Given the description of an element on the screen output the (x, y) to click on. 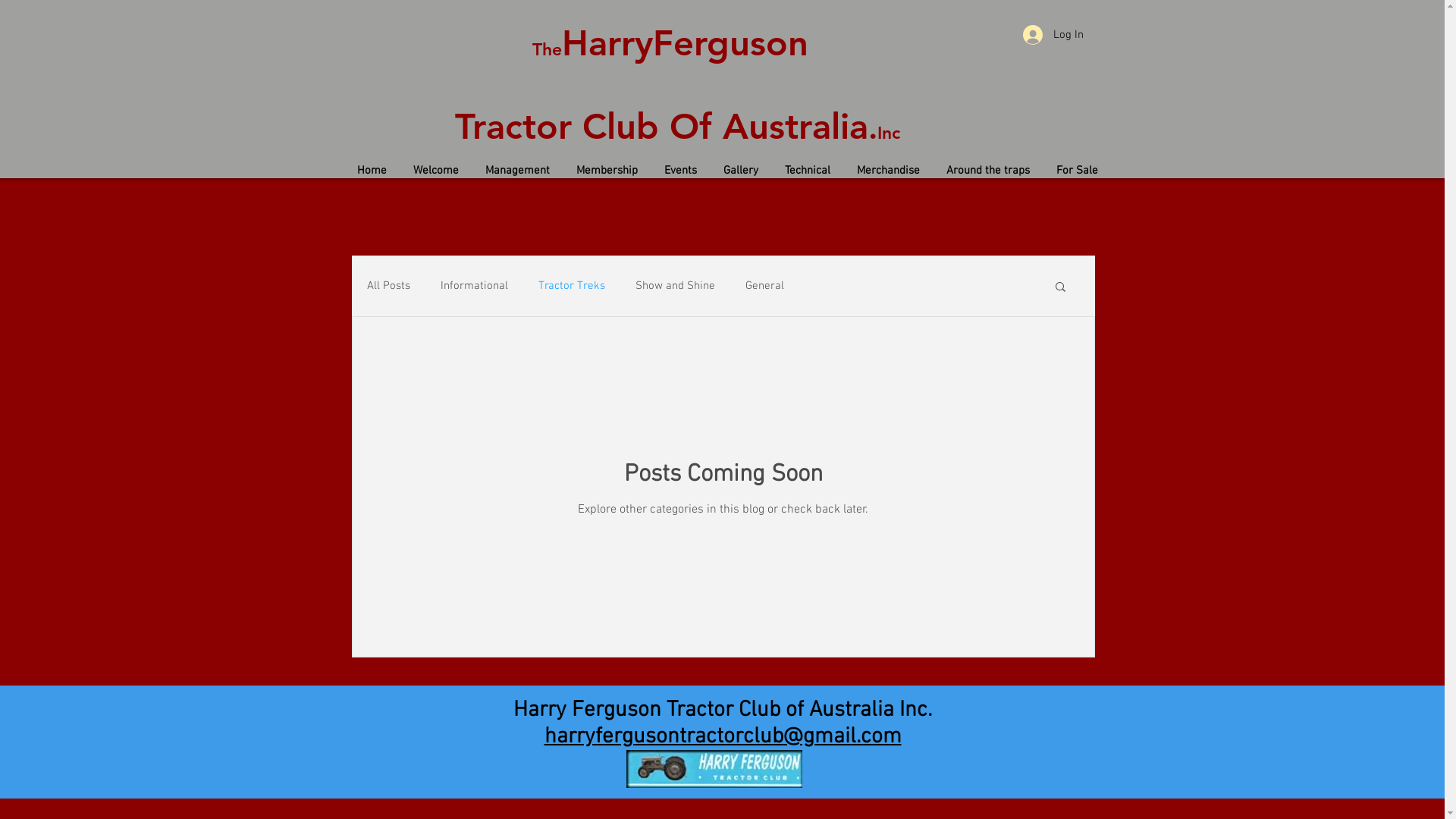
harryfergusontractorclub@gmail.com Element type: text (722, 736)
Tractor Treks Element type: text (571, 285)
Merchandise Element type: text (887, 170)
Gallery Element type: text (740, 170)
Welcome Element type: text (436, 170)
General Element type: text (763, 285)
Log In Element type: text (1052, 34)
Around the traps Element type: text (987, 170)
All Posts Element type: text (388, 285)
Membership Element type: text (606, 170)
Home Element type: text (372, 170)
Events Element type: text (679, 170)
Show and Shine Element type: text (675, 285)
Informational Element type: text (473, 285)
Technical Element type: text (807, 170)
For Sale Element type: text (1077, 170)
